Given the description of an element on the screen output the (x, y) to click on. 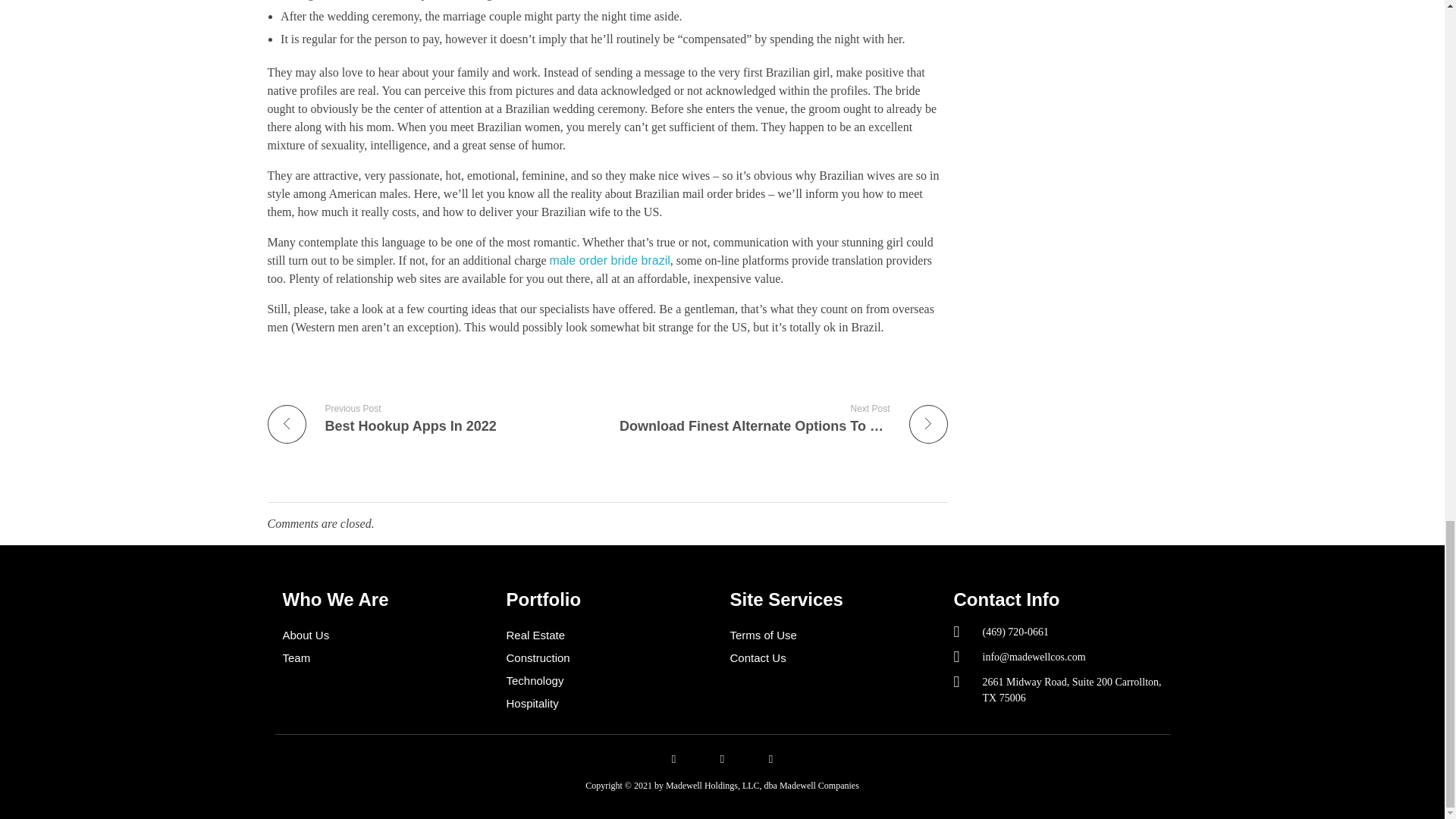
Real Estate (610, 635)
Team (386, 658)
Terms of Use (833, 635)
Hospitality (610, 703)
Construction (430, 418)
male order bride brazil (610, 658)
Contact Us (609, 259)
Technology (833, 658)
